Given the description of an element on the screen output the (x, y) to click on. 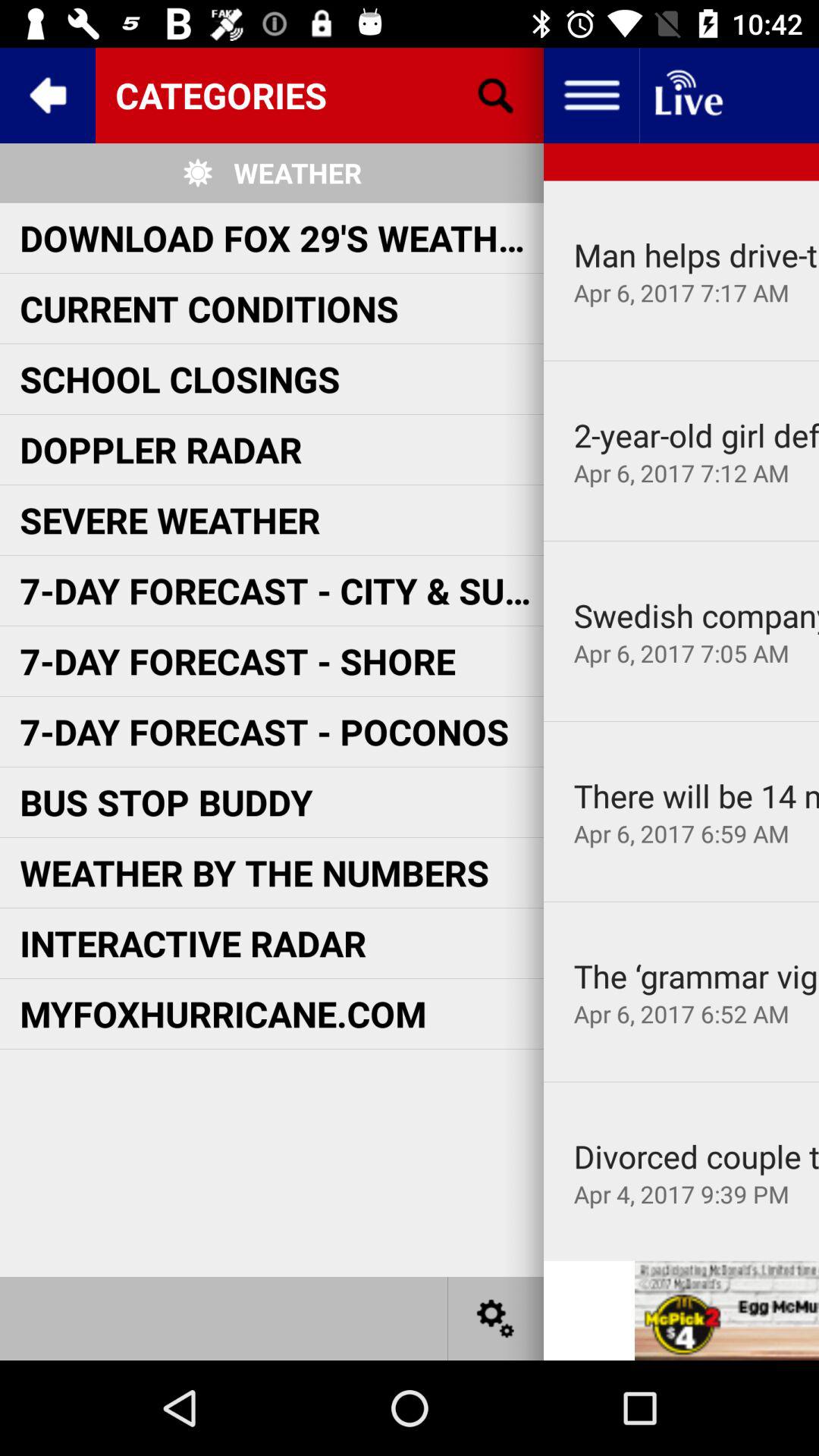
select newfeed (687, 95)
